Given the description of an element on the screen output the (x, y) to click on. 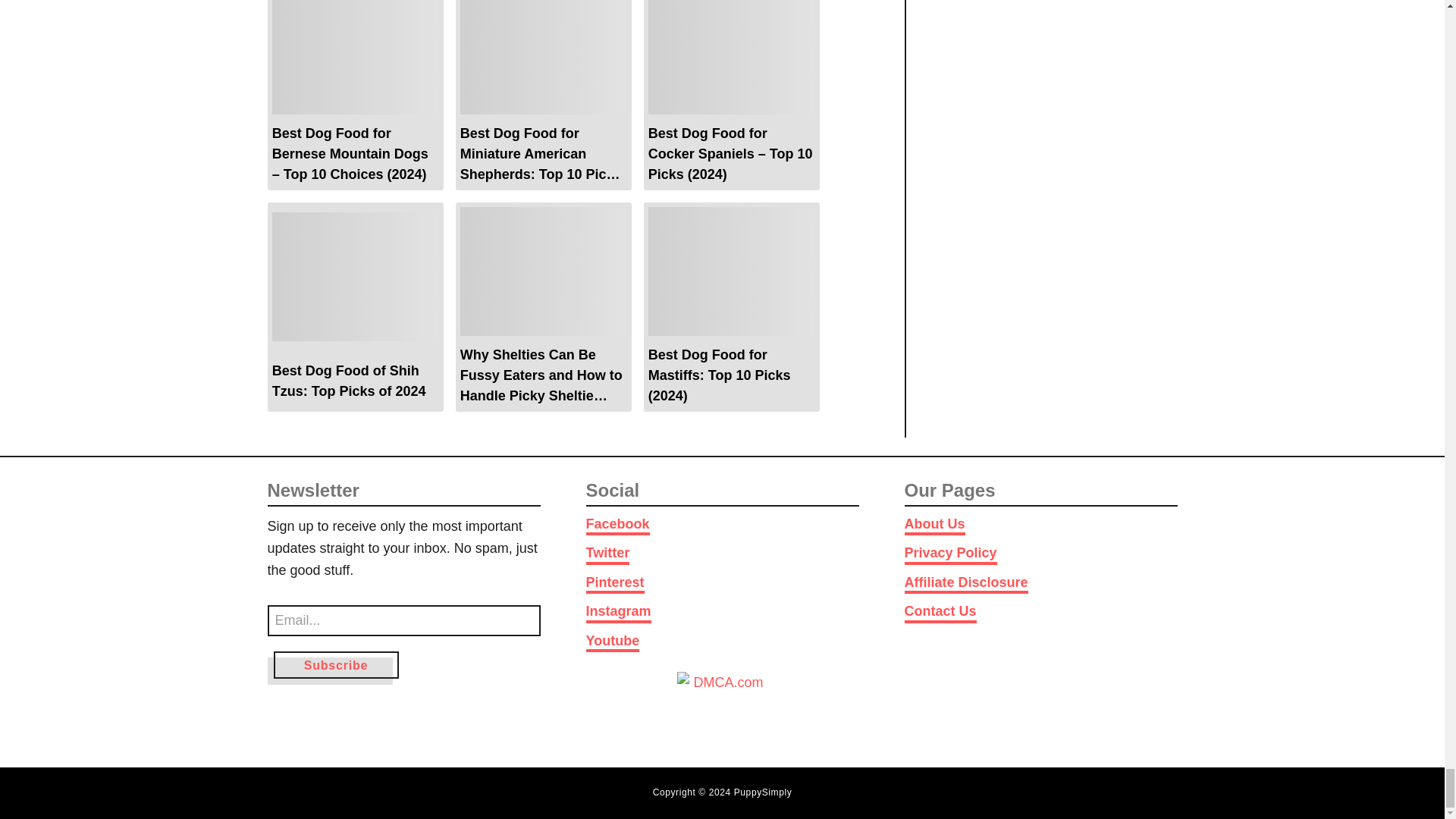
DMCA.com Protection Status (722, 704)
Subscribe (335, 664)
